Given the description of an element on the screen output the (x, y) to click on. 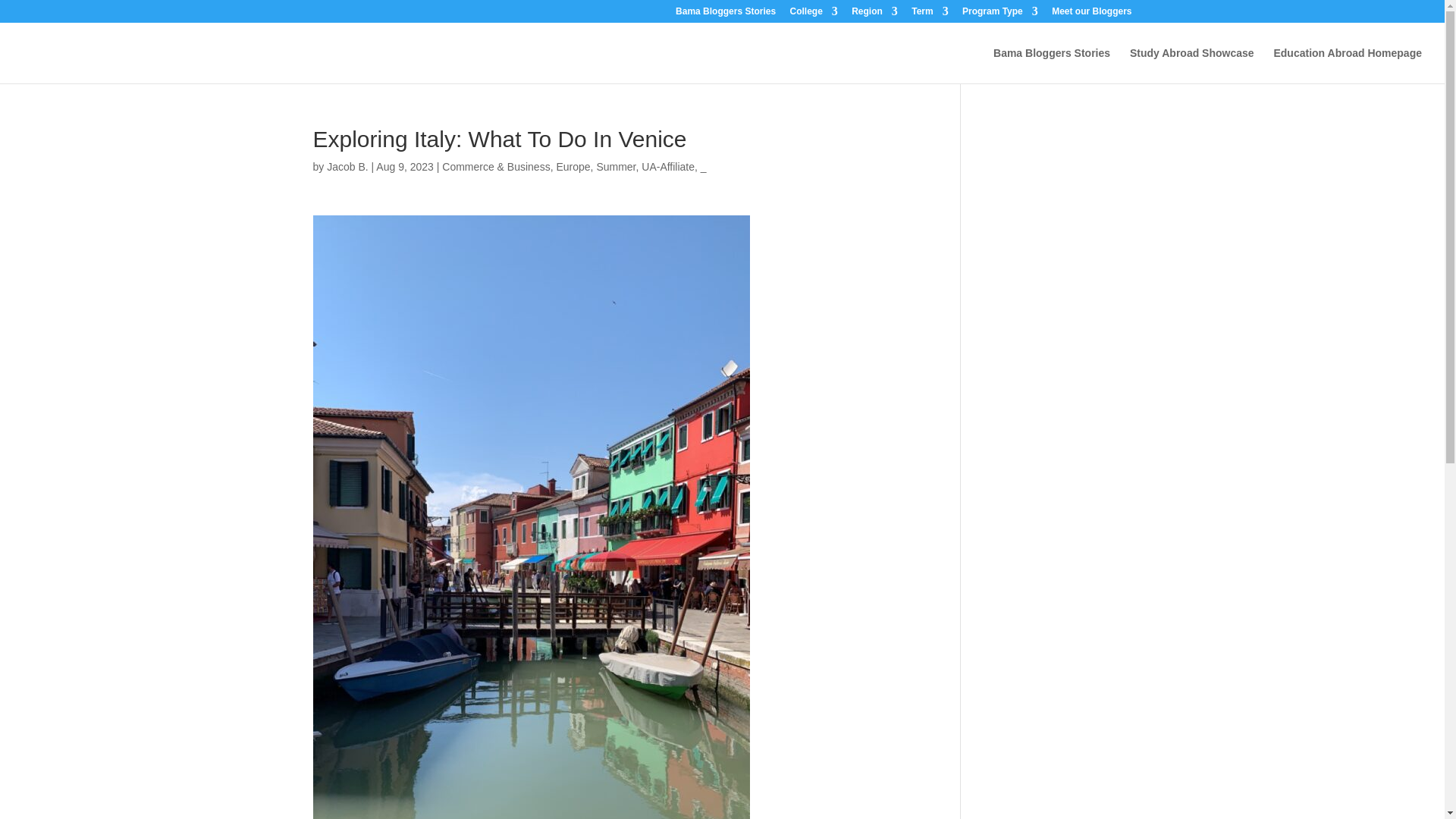
Posts by Jacob B. (347, 166)
Bama Bloggers Stories (725, 14)
Education Abroad Homepage (1347, 65)
Meet our Bloggers (1091, 14)
Region (874, 14)
Term (929, 14)
Program Type (1000, 14)
College (813, 14)
Bama Bloggers Stories (1050, 65)
Study Abroad Showcase (1191, 65)
